Given the description of an element on the screen output the (x, y) to click on. 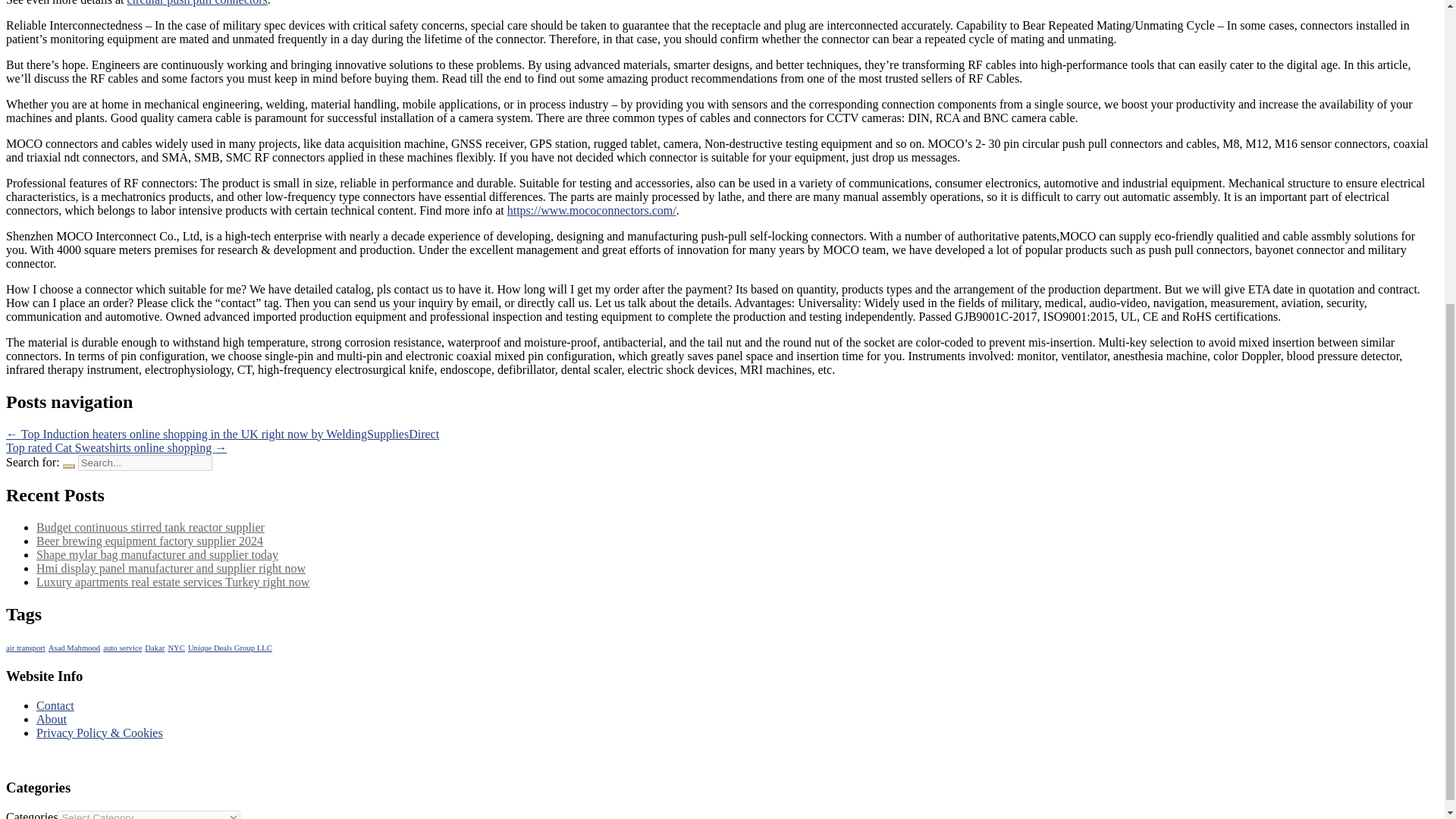
Dakar (154, 647)
Hmi display panel manufacturer and supplier right now (170, 567)
Budget continuous stirred tank reactor supplier (150, 526)
circular push pull connectors (197, 2)
Shape mylar bag manufacturer and supplier today (157, 554)
air transport (25, 647)
Luxury apartments real estate services Turkey right now (172, 581)
Asad Mahmood (74, 647)
Unique Deals Group LLC (229, 647)
auto service (122, 647)
